Given the description of an element on the screen output the (x, y) to click on. 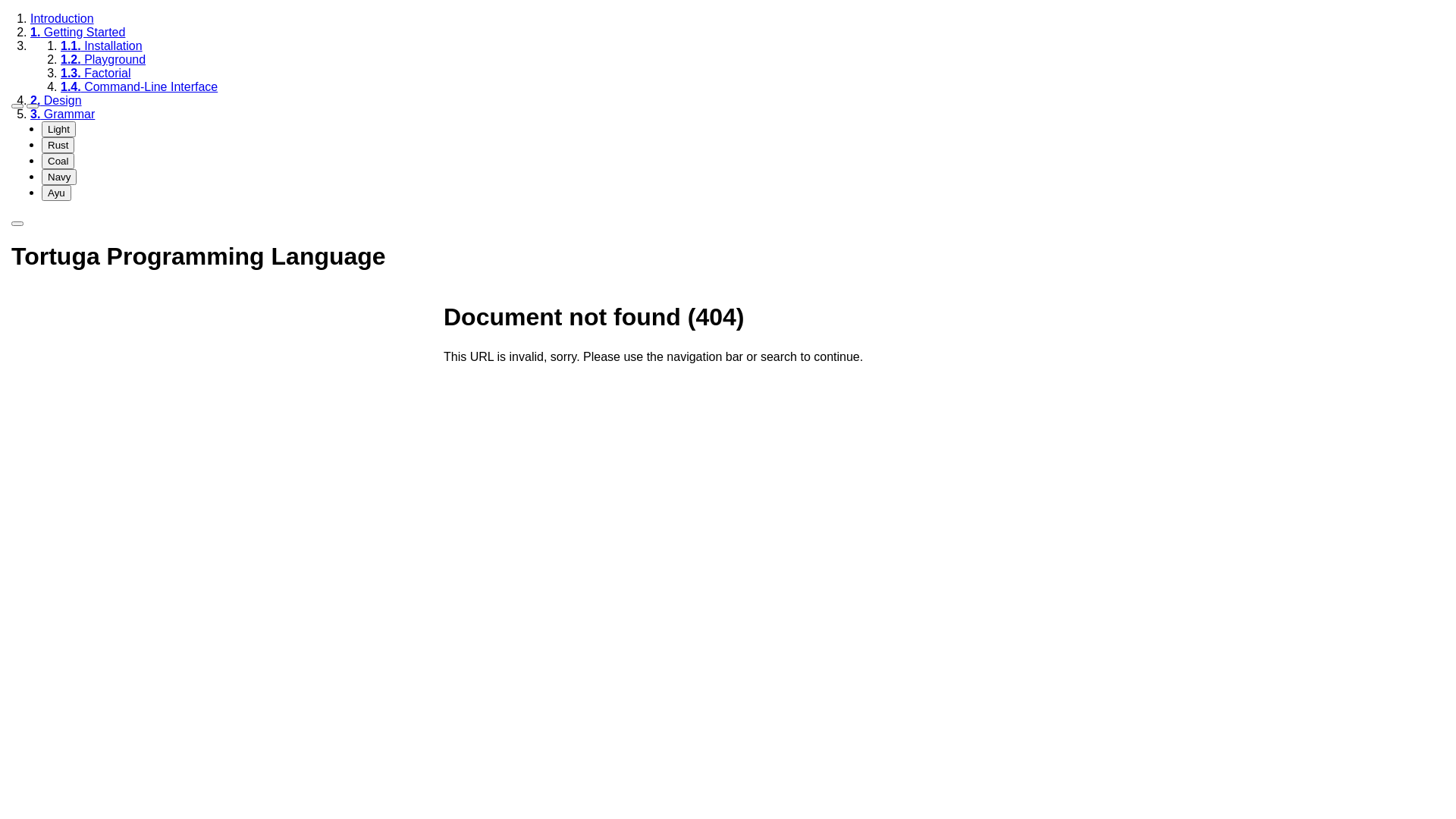
Introduction Element type: text (62, 18)
1.1. Installation Element type: text (101, 45)
Navy Element type: text (58, 177)
1. Getting Started Element type: text (77, 31)
Search. (Shortkey: s) Element type: hover (17, 223)
3. Grammar Element type: text (62, 113)
Ayu Element type: text (56, 192)
Light Element type: text (58, 129)
Coal Element type: text (57, 161)
1.4. Command-Line Interface Element type: text (138, 86)
Document not found (404) Element type: text (593, 316)
Rust Element type: text (57, 145)
1.3. Factorial Element type: text (95, 72)
Toggle Table of Contents Element type: hover (17, 105)
1.2. Playground Element type: text (102, 59)
Change theme Element type: hover (32, 105)
2. Design Element type: text (55, 100)
